Given the description of an element on the screen output the (x, y) to click on. 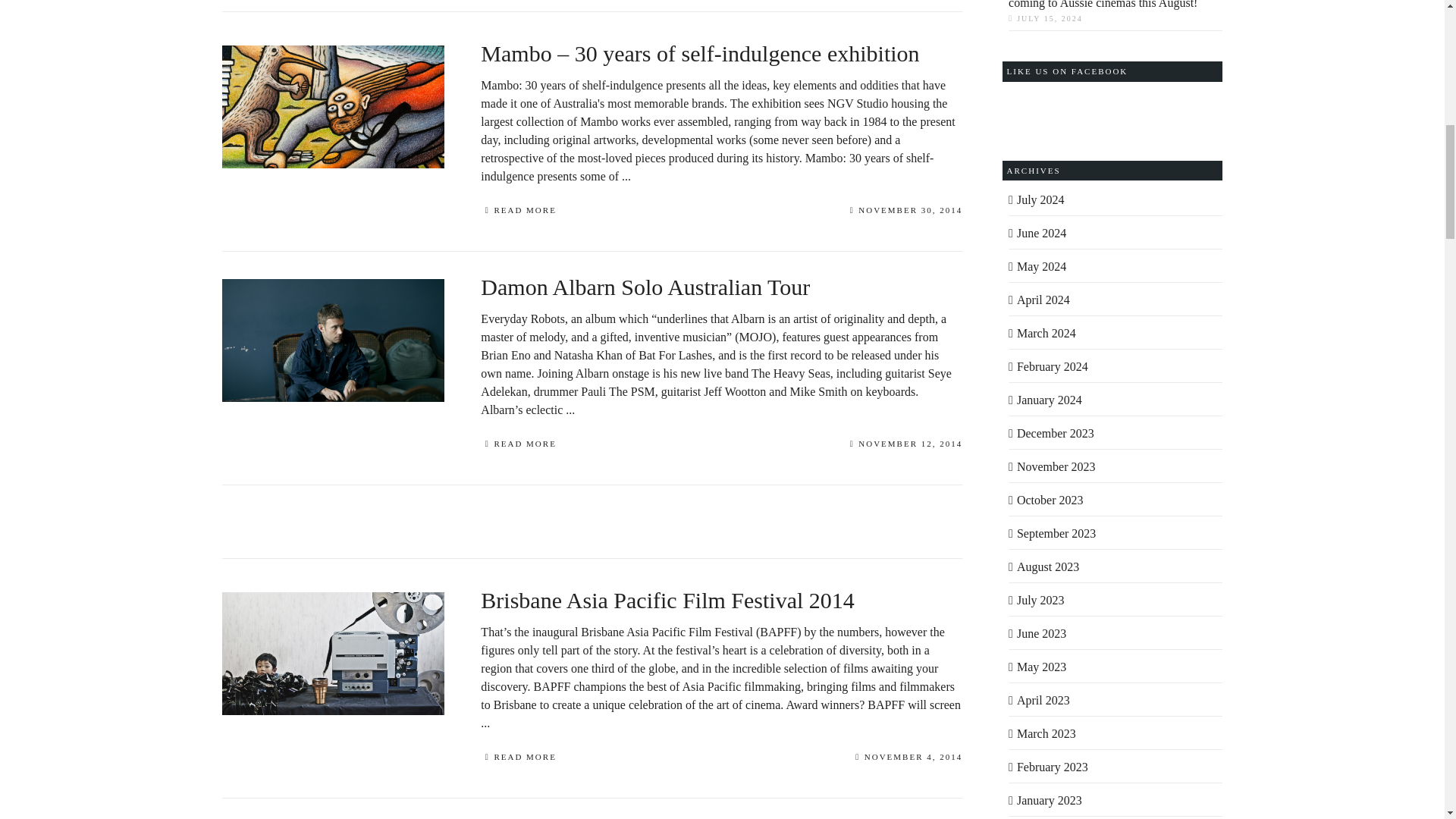
READ MORE (518, 445)
Brisbane Asia Pacific Film Festival 2014 (721, 613)
Damon Albarn Solo Australian Tour (721, 300)
NOVEMBER 30, 2014 (906, 212)
NOVEMBER 4, 2014 (909, 758)
READ MORE (518, 759)
READ MORE (518, 211)
NOVEMBER 12, 2014 (906, 445)
